Given the description of an element on the screen output the (x, y) to click on. 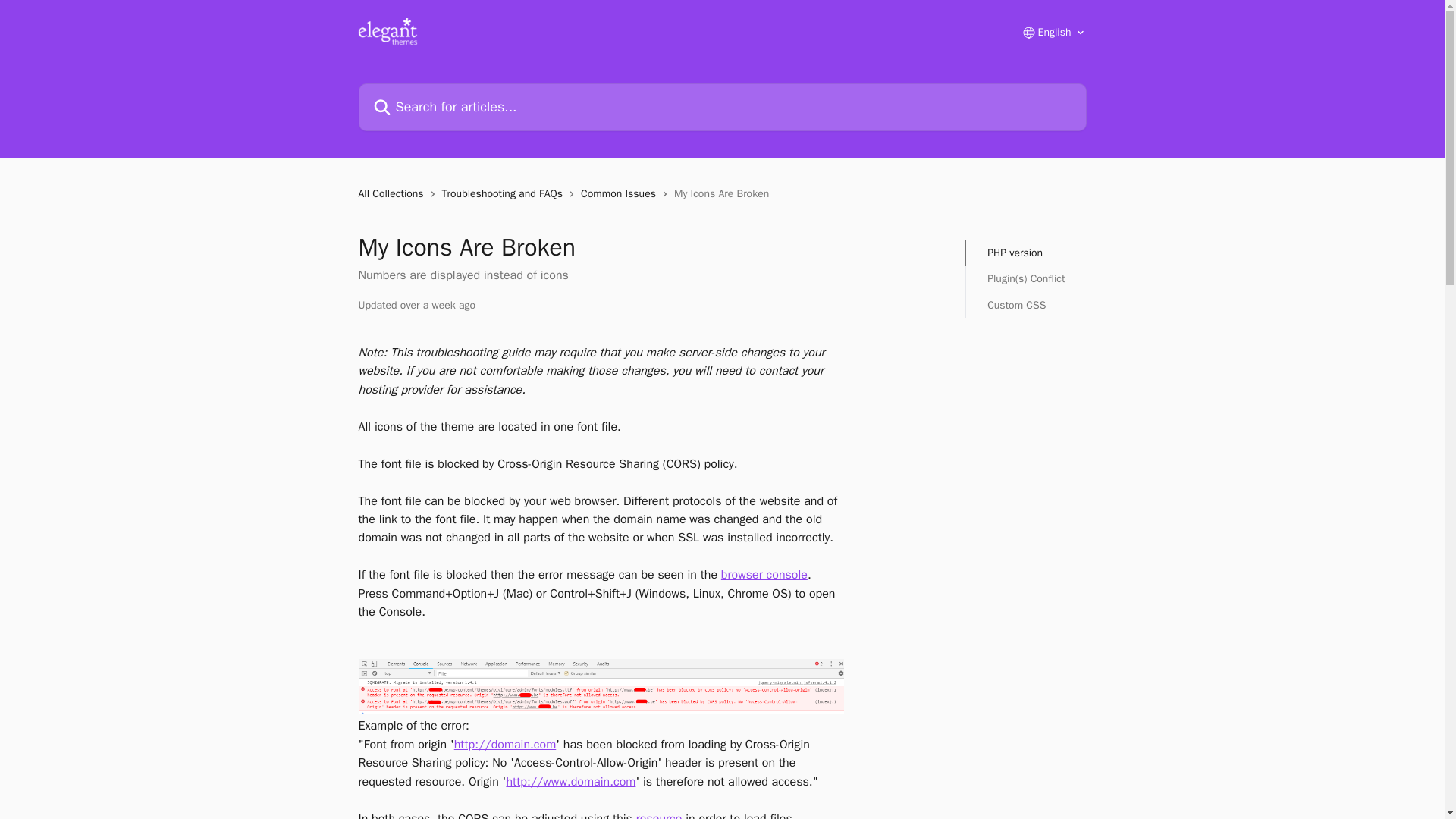
All Collections (393, 193)
resource (659, 815)
Custom CSS (1025, 305)
browser console (764, 574)
Troubleshooting and FAQs (505, 193)
Common Issues (621, 193)
PHP version (1025, 252)
